Given the description of an element on the screen output the (x, y) to click on. 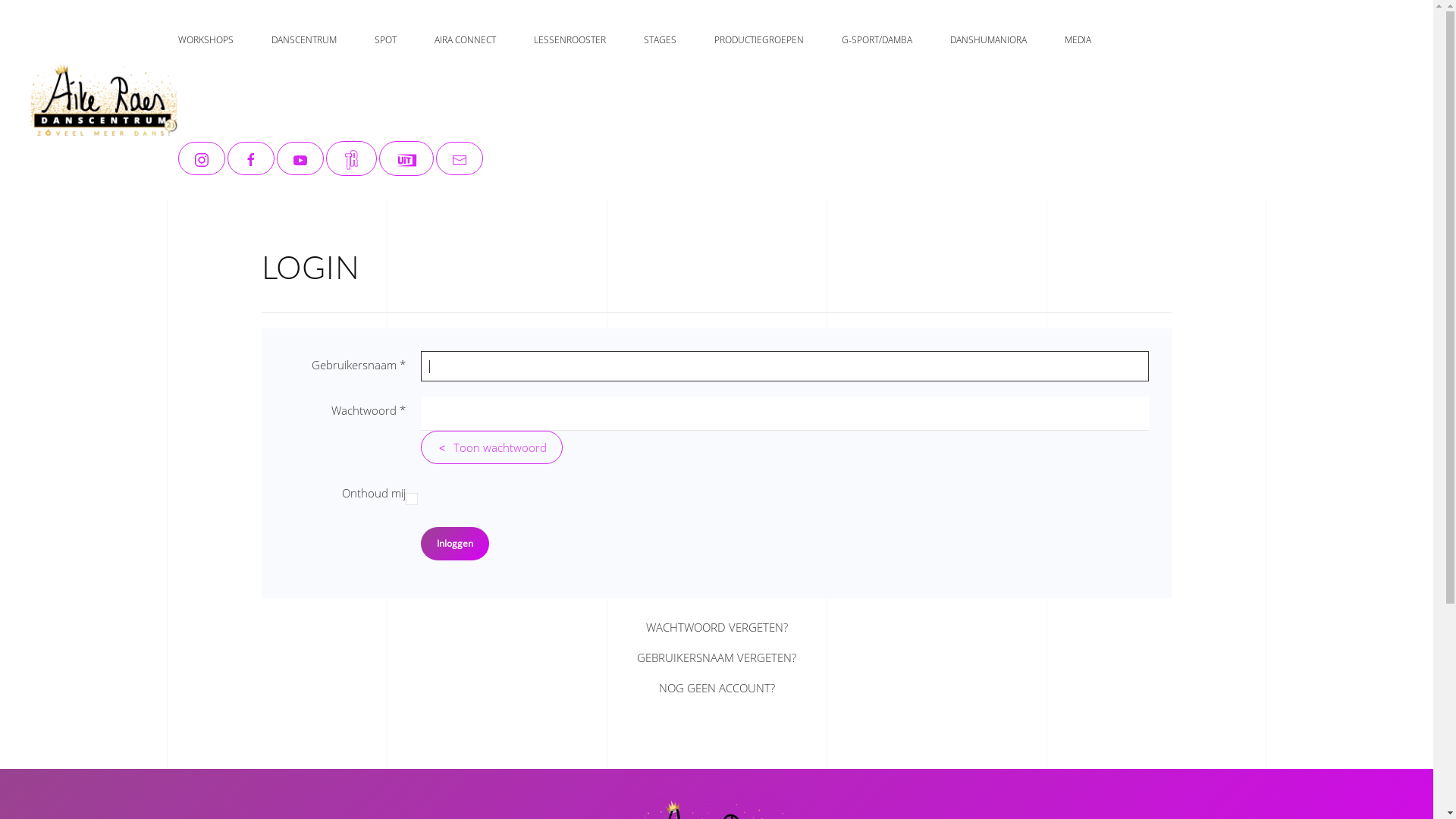
NOG GEEN ACCOUNT? Element type: text (716, 689)
AIRA CONNECT Element type: text (464, 40)
WACHTWOORD VERGETEN? Element type: text (716, 628)
WORKSHOPS Element type: text (205, 40)
DANSHUMANIORA Element type: text (988, 40)
STAGES Element type: text (659, 40)
Toon wachtwoord Element type: text (491, 447)
GEBRUIKERSNAAM VERGETEN? Element type: text (716, 658)
SPOT Element type: text (385, 40)
PRODUCTIEGROEPEN Element type: text (758, 40)
G-SPORT/DAMBA Element type: text (876, 40)
Inloggen Element type: text (454, 543)
MEDIA Element type: text (1077, 40)
DANSCENTRUM Element type: text (303, 40)
LESSENROOSTER Element type: text (569, 40)
